Given the description of an element on the screen output the (x, y) to click on. 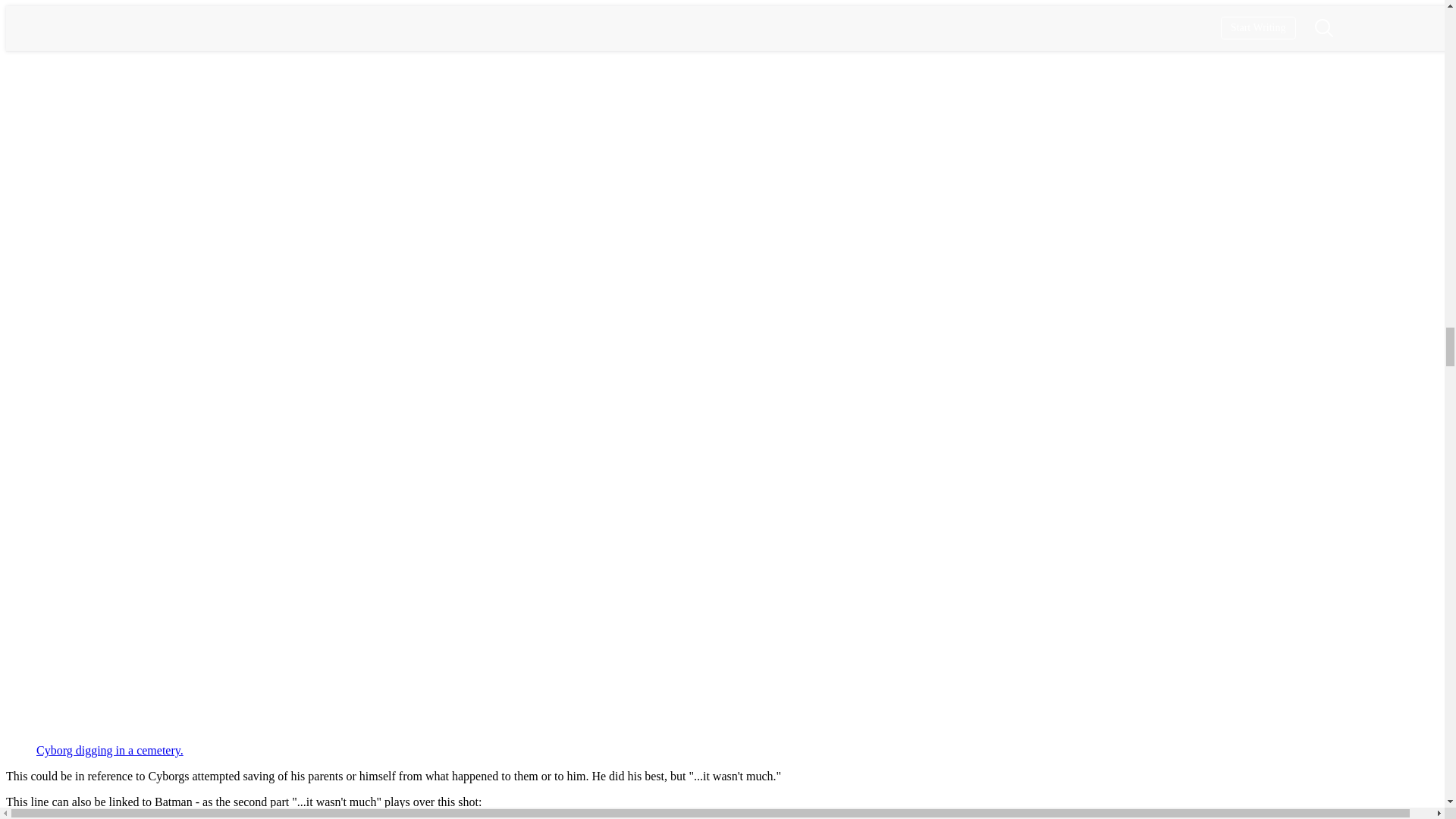
Cyborg digging in a cemetery. (109, 749)
